Given the description of an element on the screen output the (x, y) to click on. 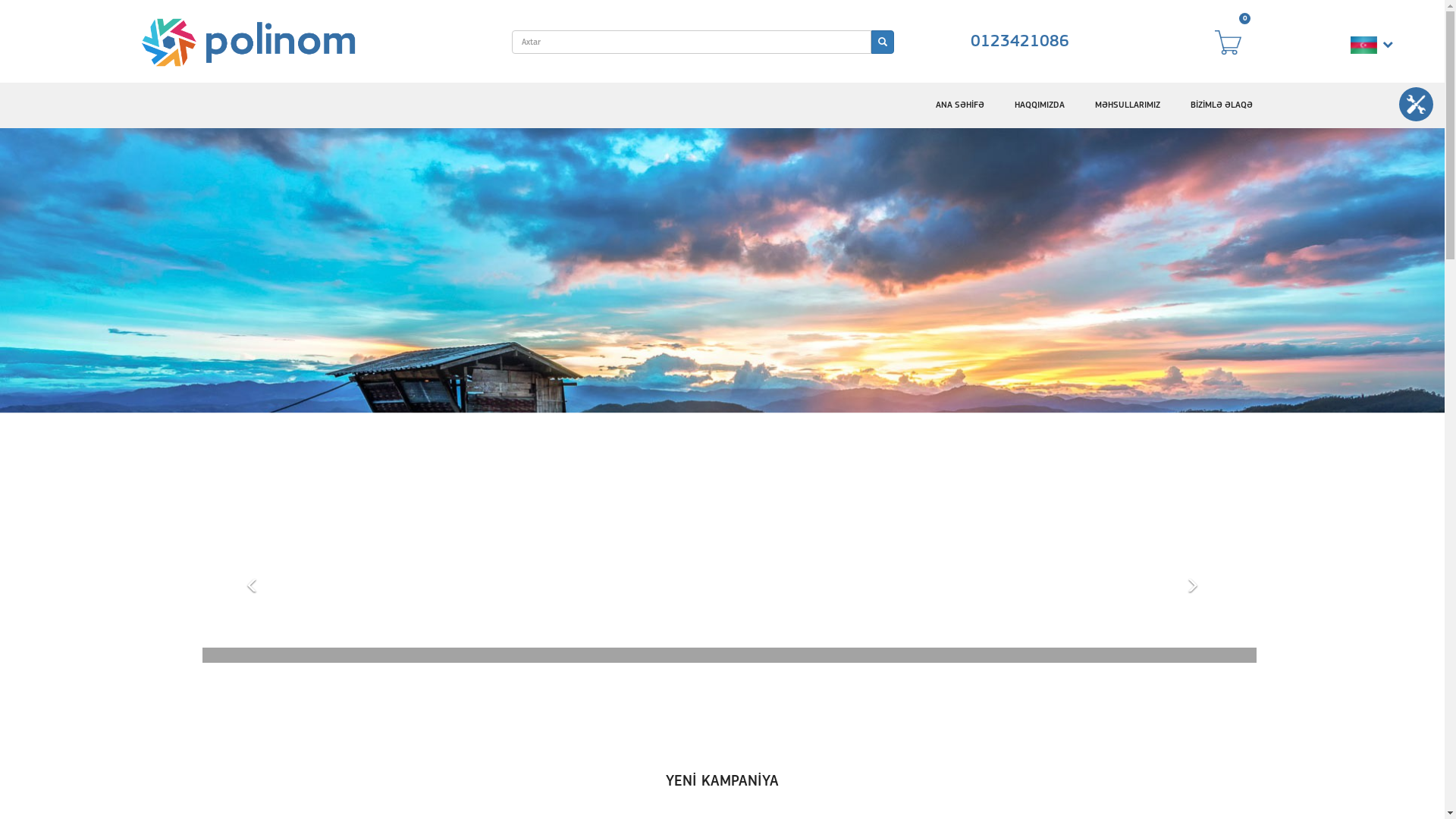
0 Element type: text (1234, 41)
Previous Element type: text (252, 660)
Next Element type: text (1191, 660)
HAQQIMIZDA Element type: text (1039, 105)
